Given the description of an element on the screen output the (x, y) to click on. 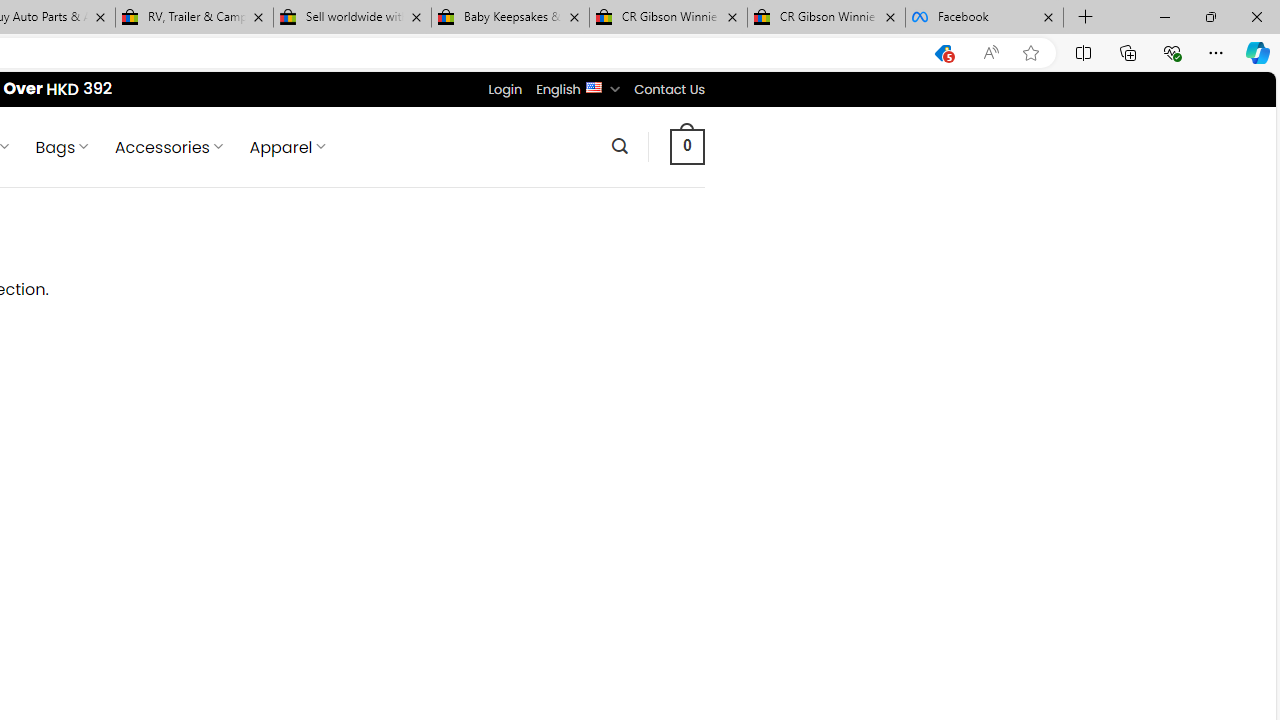
Facebook (984, 17)
Contact Us (669, 89)
Copilot (Ctrl+Shift+.) (1258, 52)
Add this page to favorites (Ctrl+D) (1030, 53)
